Given the description of an element on the screen output the (x, y) to click on. 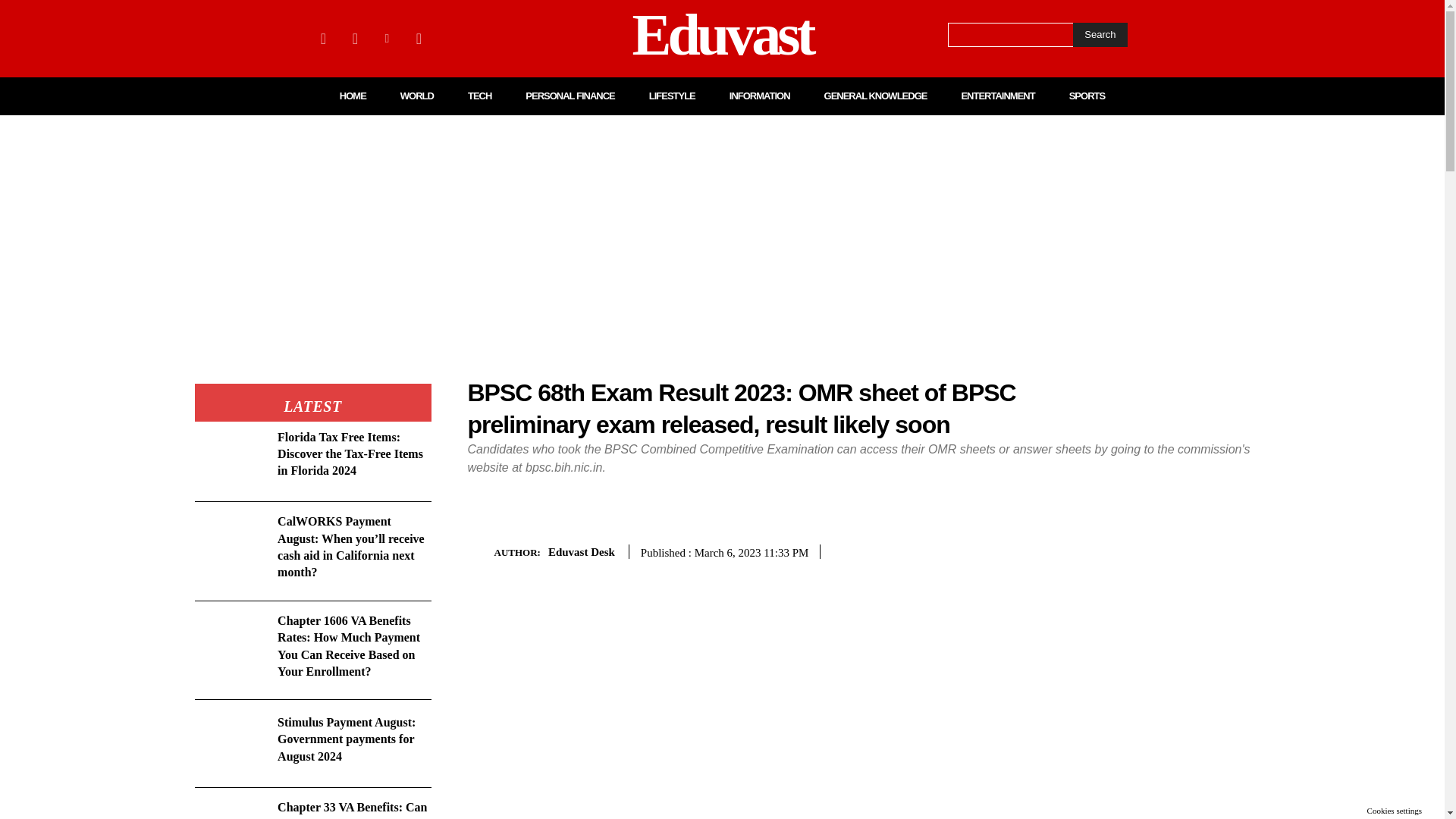
Eduvast (722, 38)
Stimulus Payment August: Government payments for August 2024 (228, 742)
LIFESTYLE (672, 95)
PERSONAL FINANCE (569, 95)
Facebook (322, 38)
INFORMATION (759, 95)
GENERAL KNOWLEDGE (875, 95)
Twitter (418, 38)
Stimulus Payment August: Government payments for August 2024 (346, 738)
Linkedin (386, 38)
Search (1099, 34)
